Given the description of an element on the screen output the (x, y) to click on. 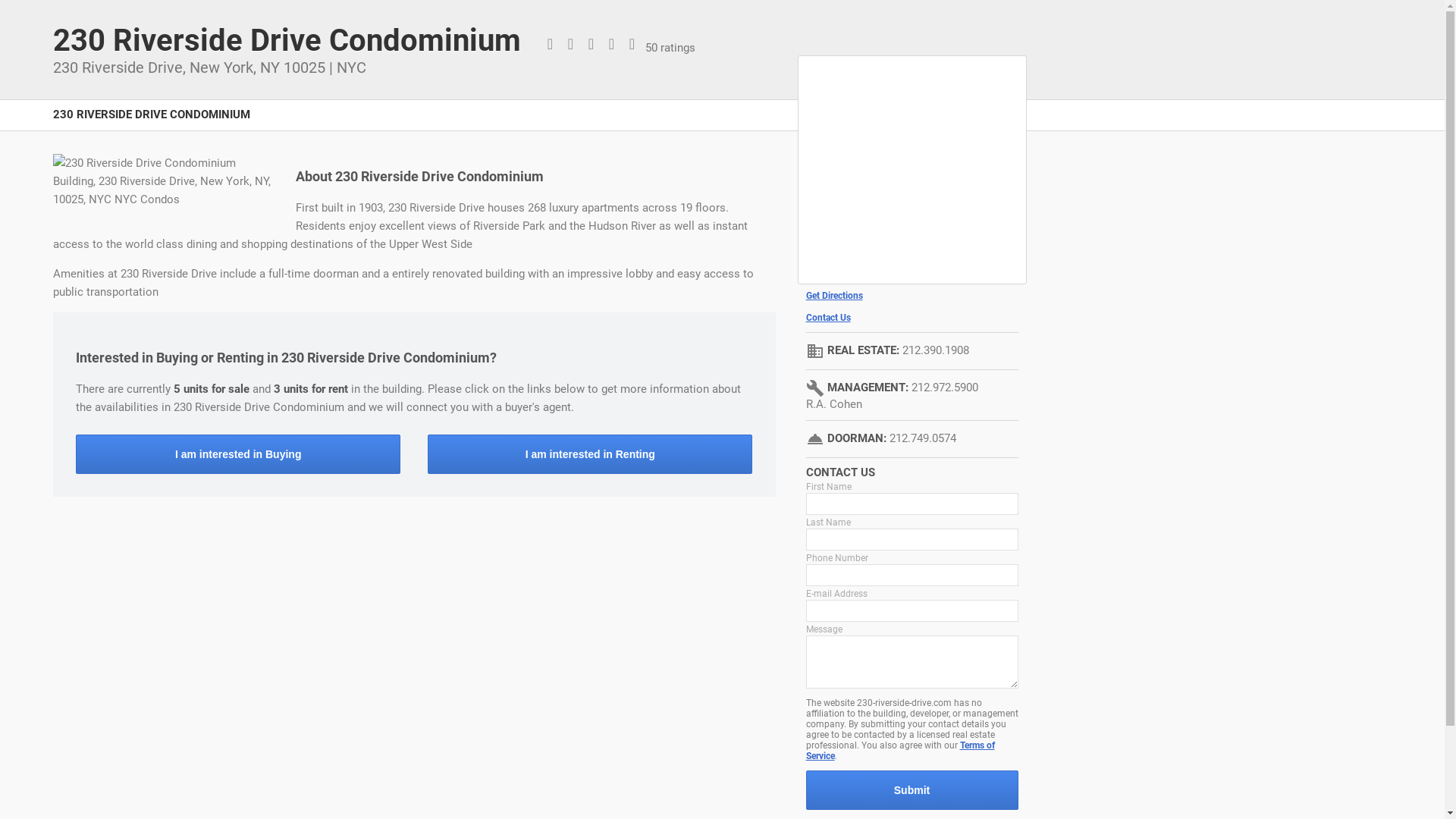
Terms of Service Element type: text (899, 750)
I am interested in Buying Element type: text (237, 453)
I am interested in Renting Element type: text (589, 453)
Contact Us Element type: text (911, 317)
Submit Element type: text (911, 789)
230 RIVERSIDE DRIVE CONDOMINIUM Element type: text (151, 122)
Get Directions Element type: text (911, 295)
